Given the description of an element on the screen output the (x, y) to click on. 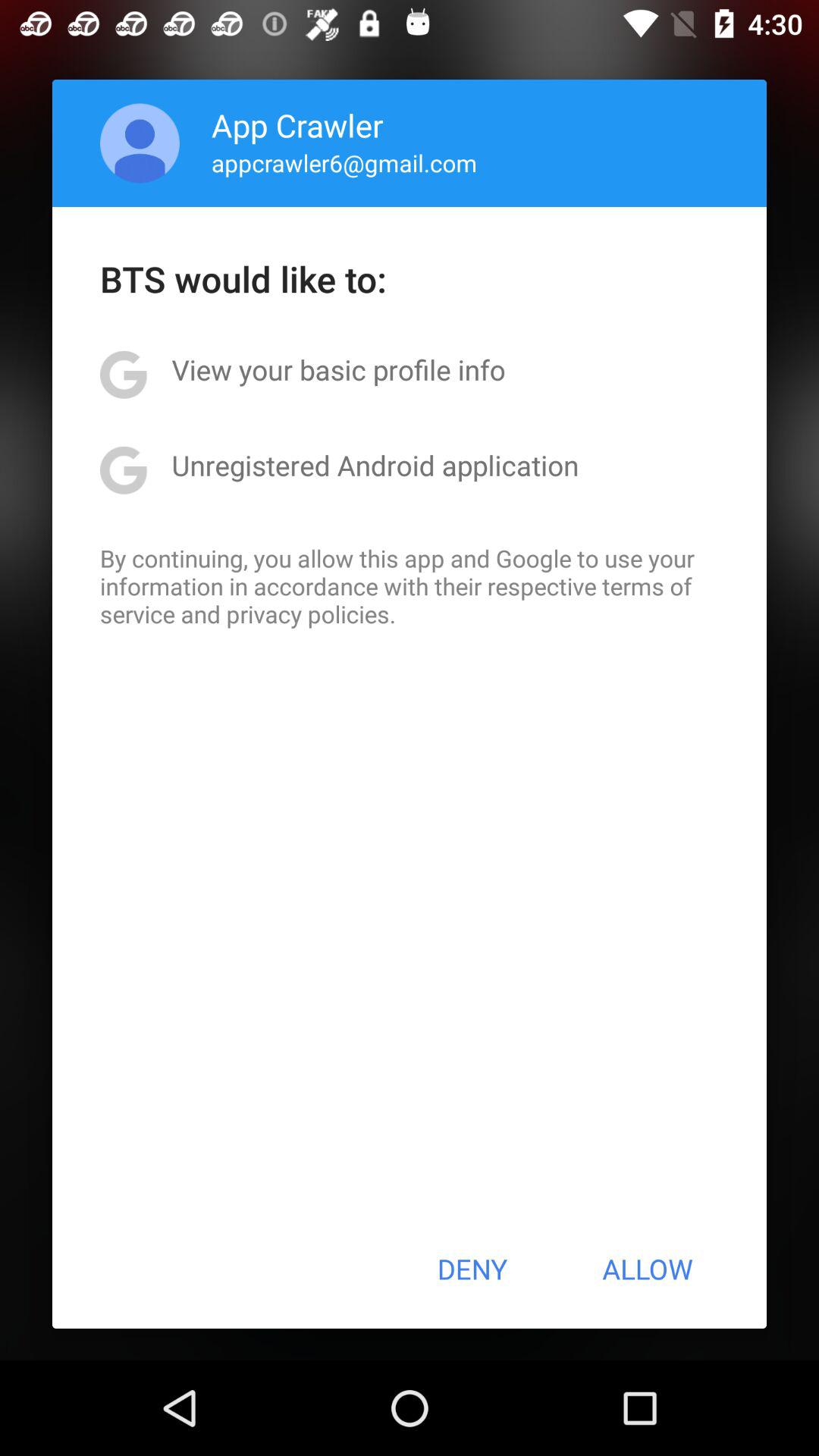
turn off the icon below the by continuing you (471, 1268)
